Given the description of an element on the screen output the (x, y) to click on. 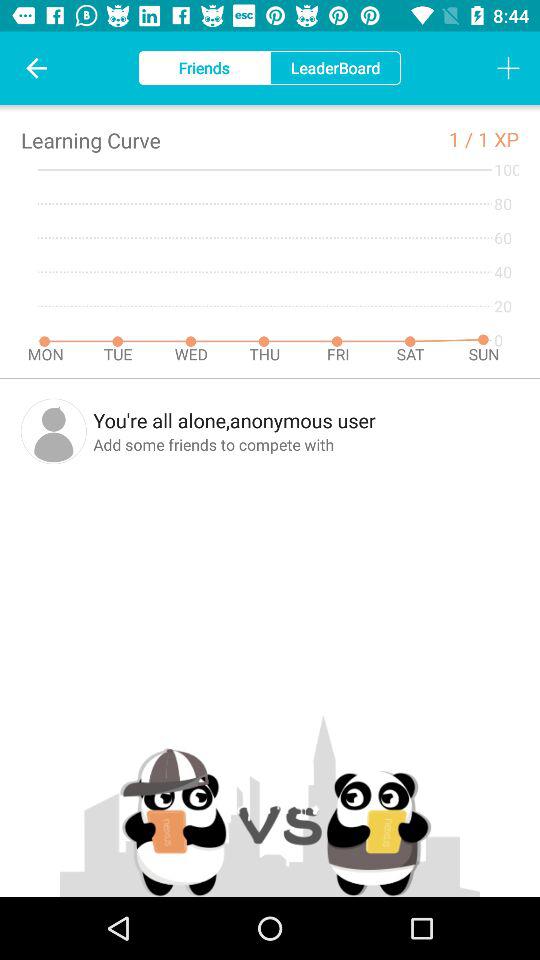
jump until 1 xp (498, 138)
